Given the description of an element on the screen output the (x, y) to click on. 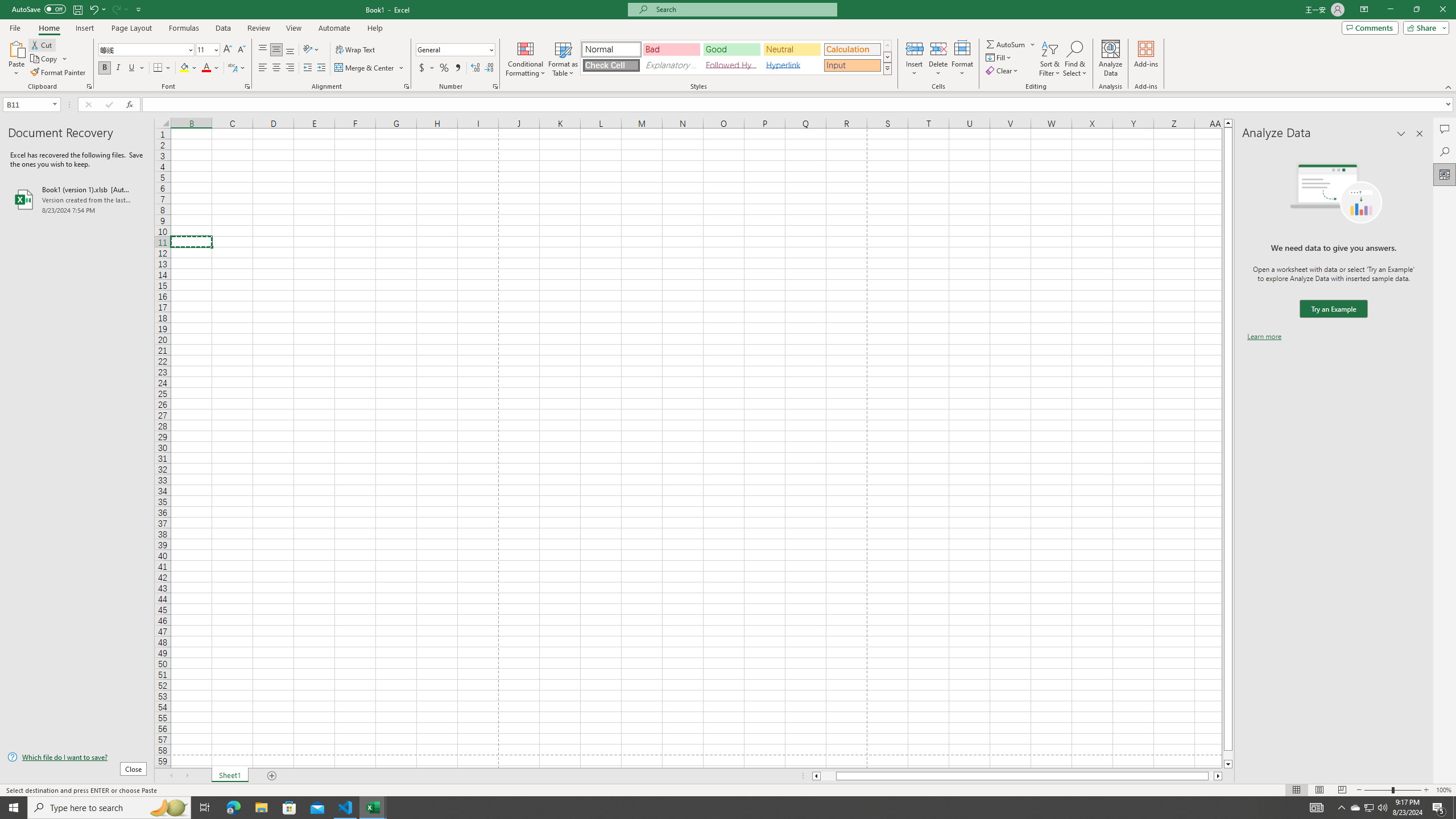
Explanatory Text (671, 65)
Comma Style (457, 67)
Bold (104, 67)
Font (147, 49)
Paste (16, 58)
Fill Color RGB(255, 255, 0) (183, 67)
Underline (136, 67)
Align Right (290, 67)
